Given the description of an element on the screen output the (x, y) to click on. 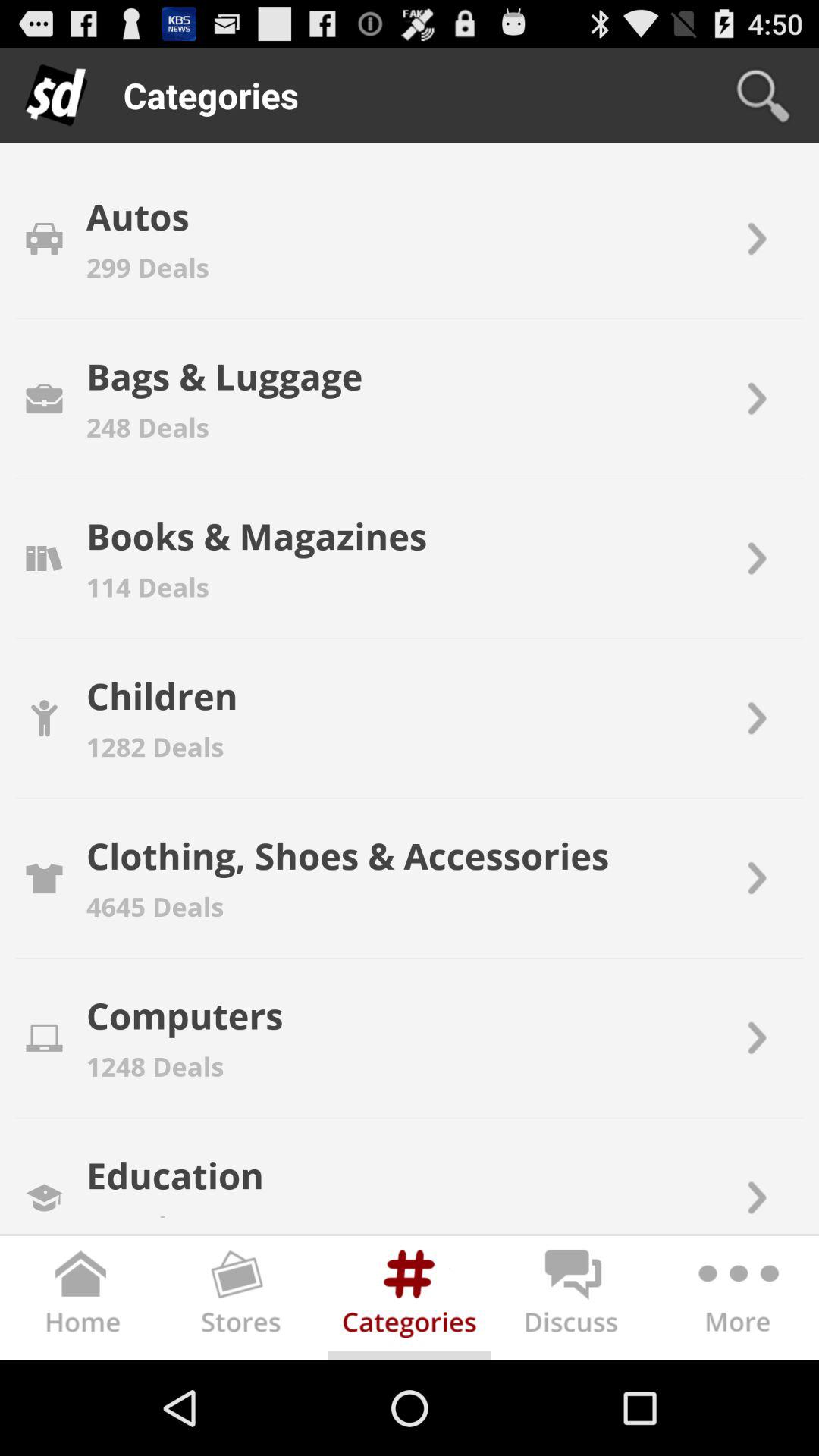
select the 1282 deals icon (155, 746)
